Given the description of an element on the screen output the (x, y) to click on. 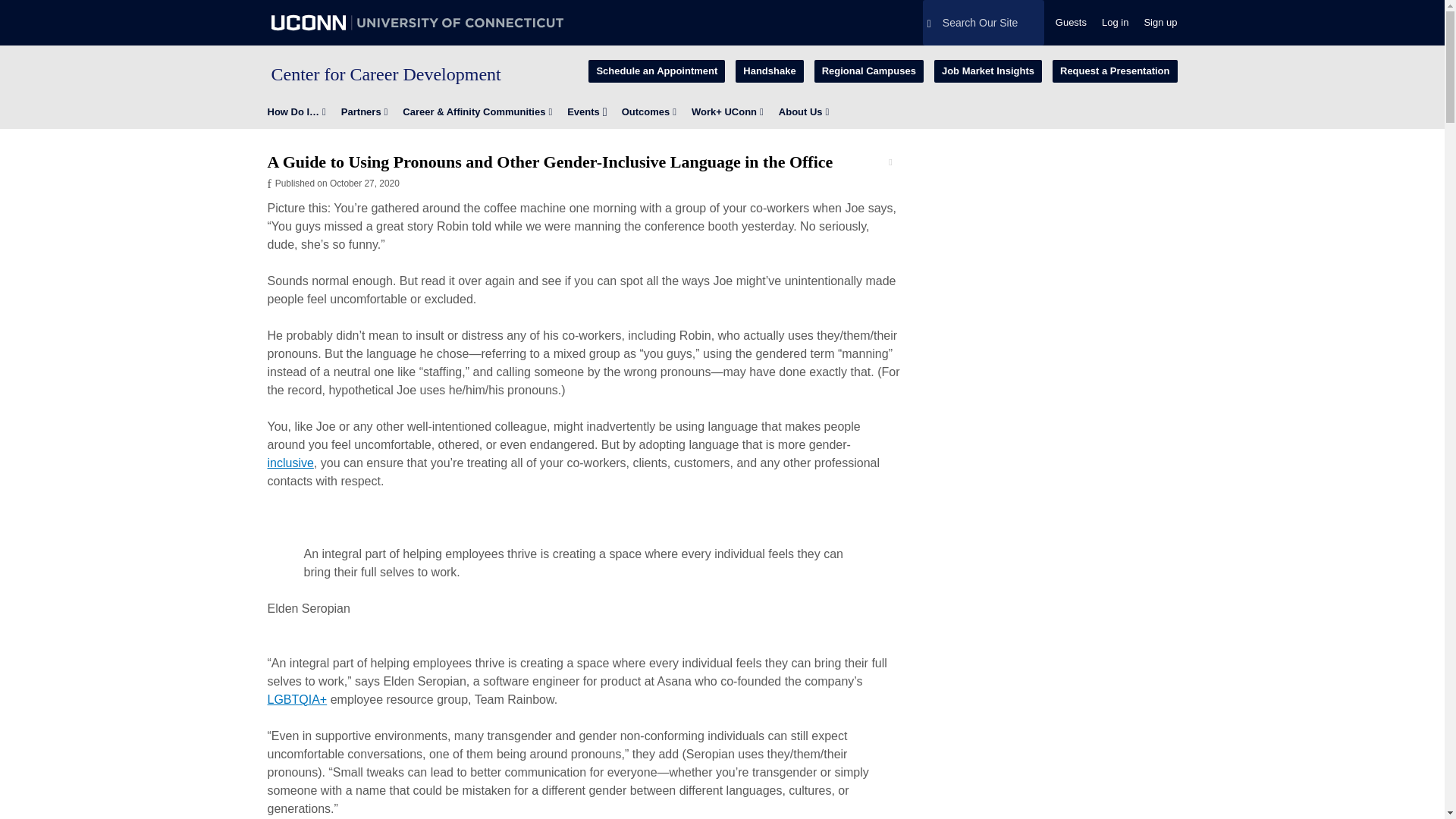
University of Connecticut (416, 22)
Handshake (769, 70)
Regional Campuses (868, 70)
Center for Career Development (385, 74)
Request a Presentation (1114, 70)
UConn Center for Career Development (385, 74)
Job Market Insights (988, 70)
Partners (364, 111)
Submit Search (38, 9)
Schedule an Appointment (656, 70)
